Given the description of an element on the screen output the (x, y) to click on. 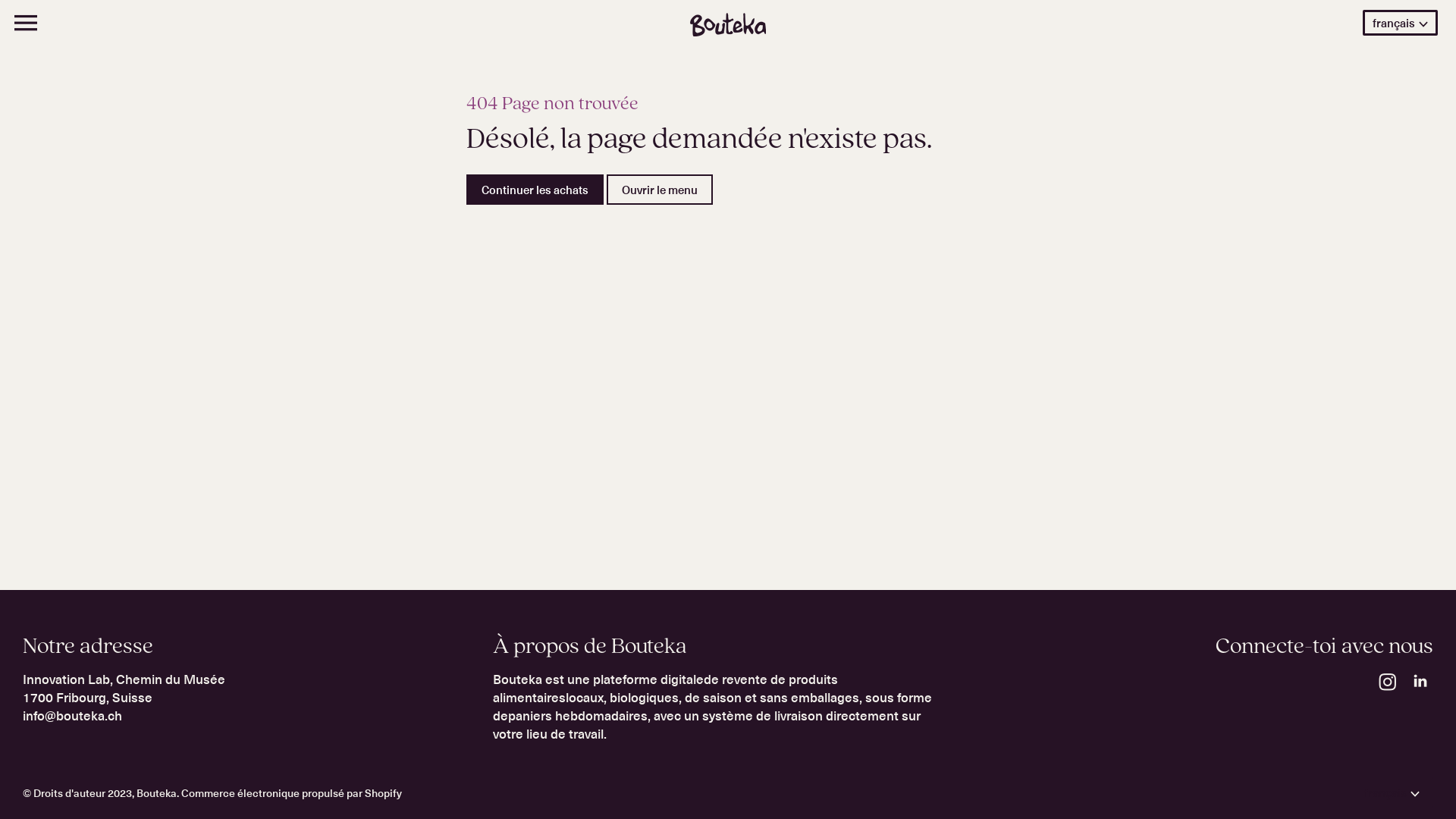
Ouvrir le menu Element type: text (659, 189)
Bouteka sur Instagram Element type: hover (1387, 691)
Continuer les achats Element type: text (534, 189)
Bouteka Element type: text (156, 792)
info@bouteka.ch Element type: text (72, 715)
Bouteka sur Linkedin Element type: hover (1420, 691)
